Given the description of an element on the screen output the (x, y) to click on. 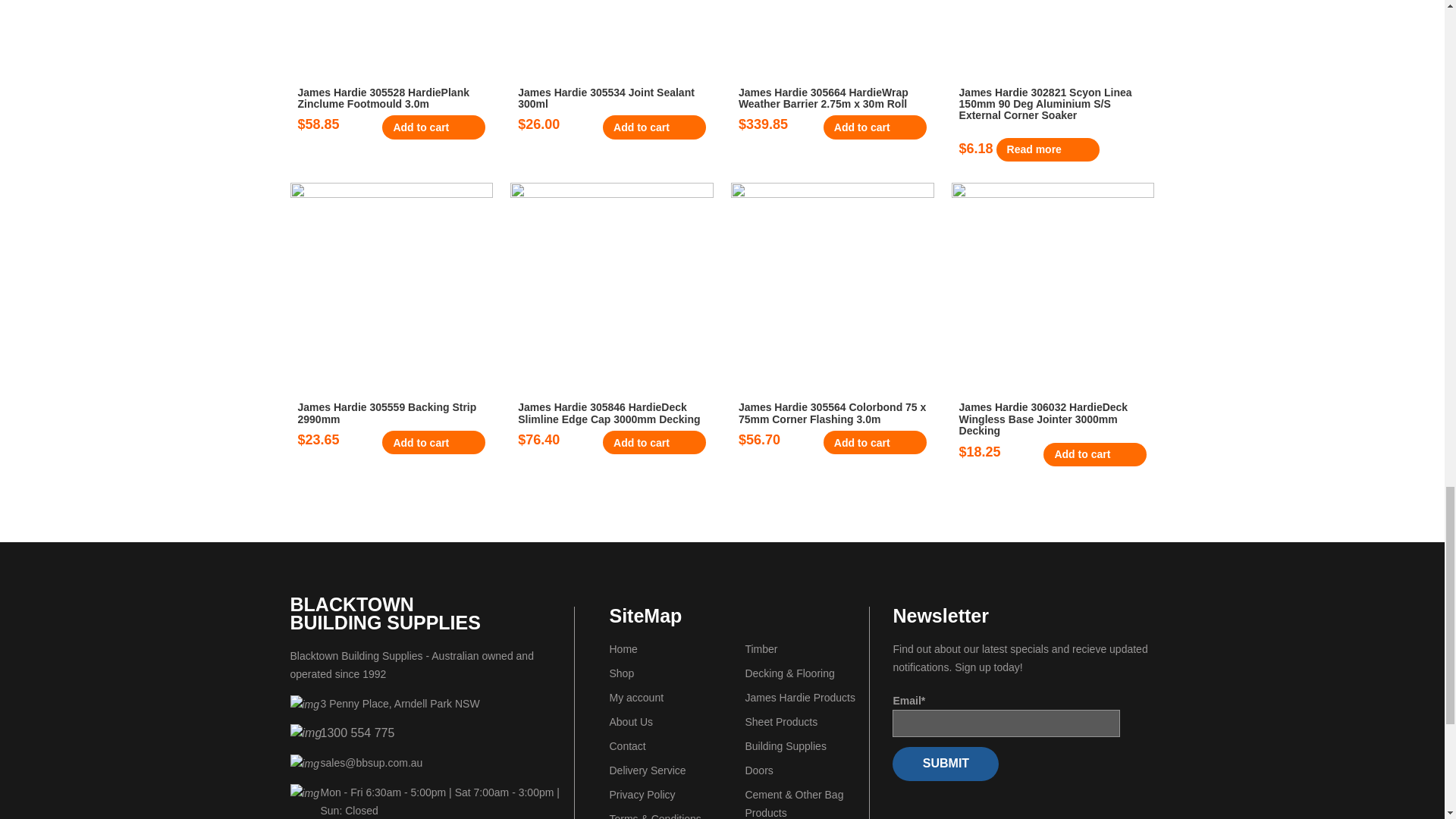
Submit (945, 763)
